Given the description of an element on the screen output the (x, y) to click on. 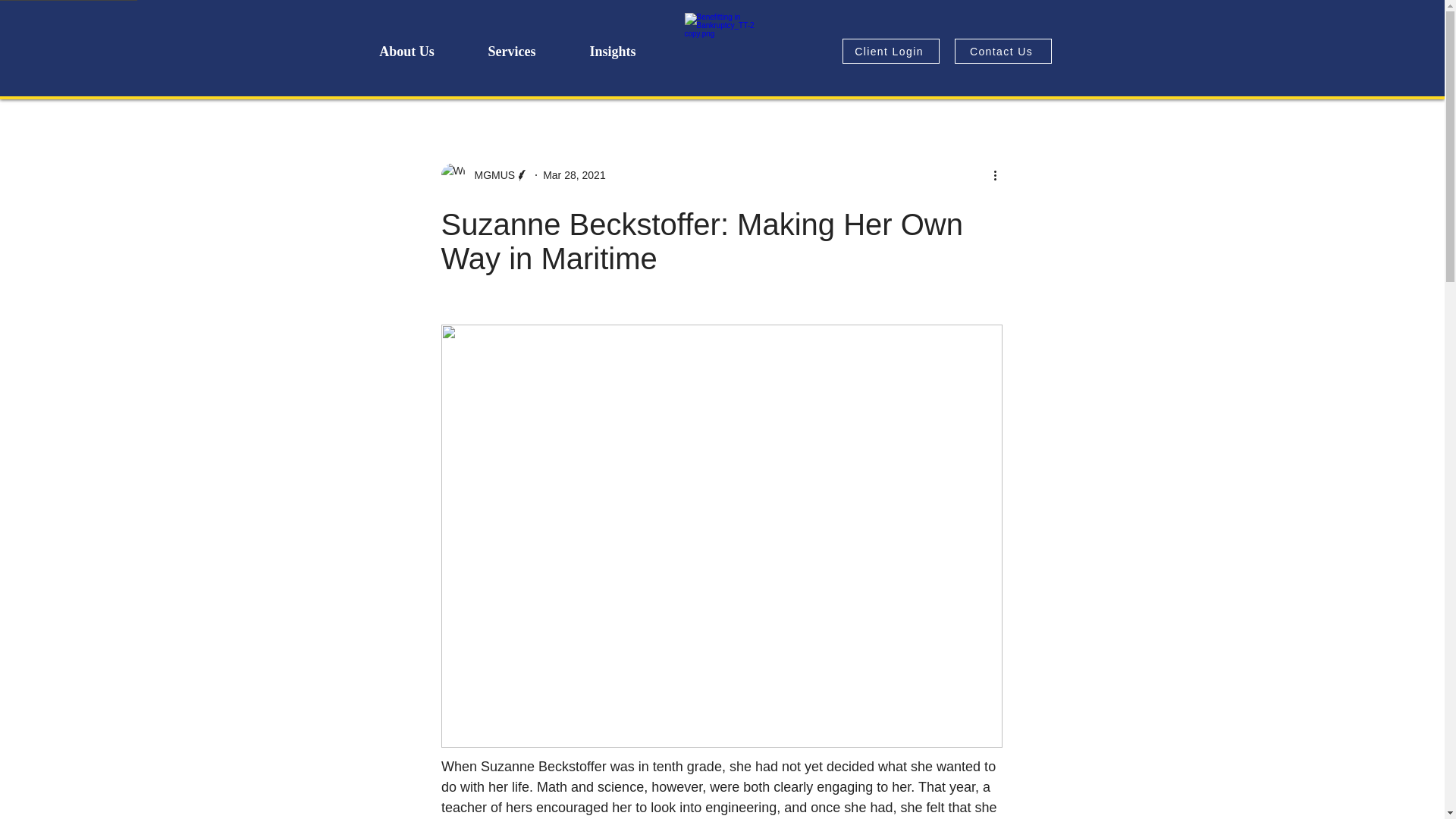
MGMUS (490, 174)
Mar 28, 2021 (574, 174)
Client Login (890, 50)
Contact Us (1002, 50)
